Given the description of an element on the screen output the (x, y) to click on. 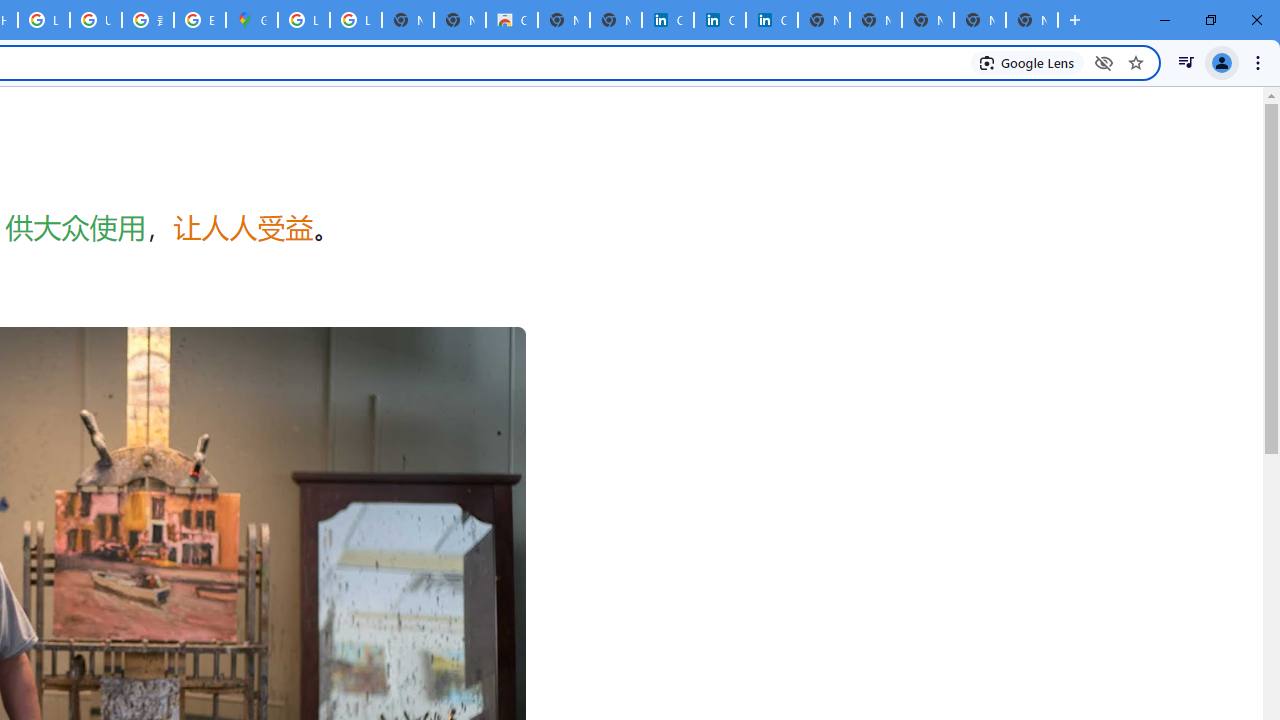
Cookie Policy | LinkedIn (667, 20)
